Given the description of an element on the screen output the (x, y) to click on. 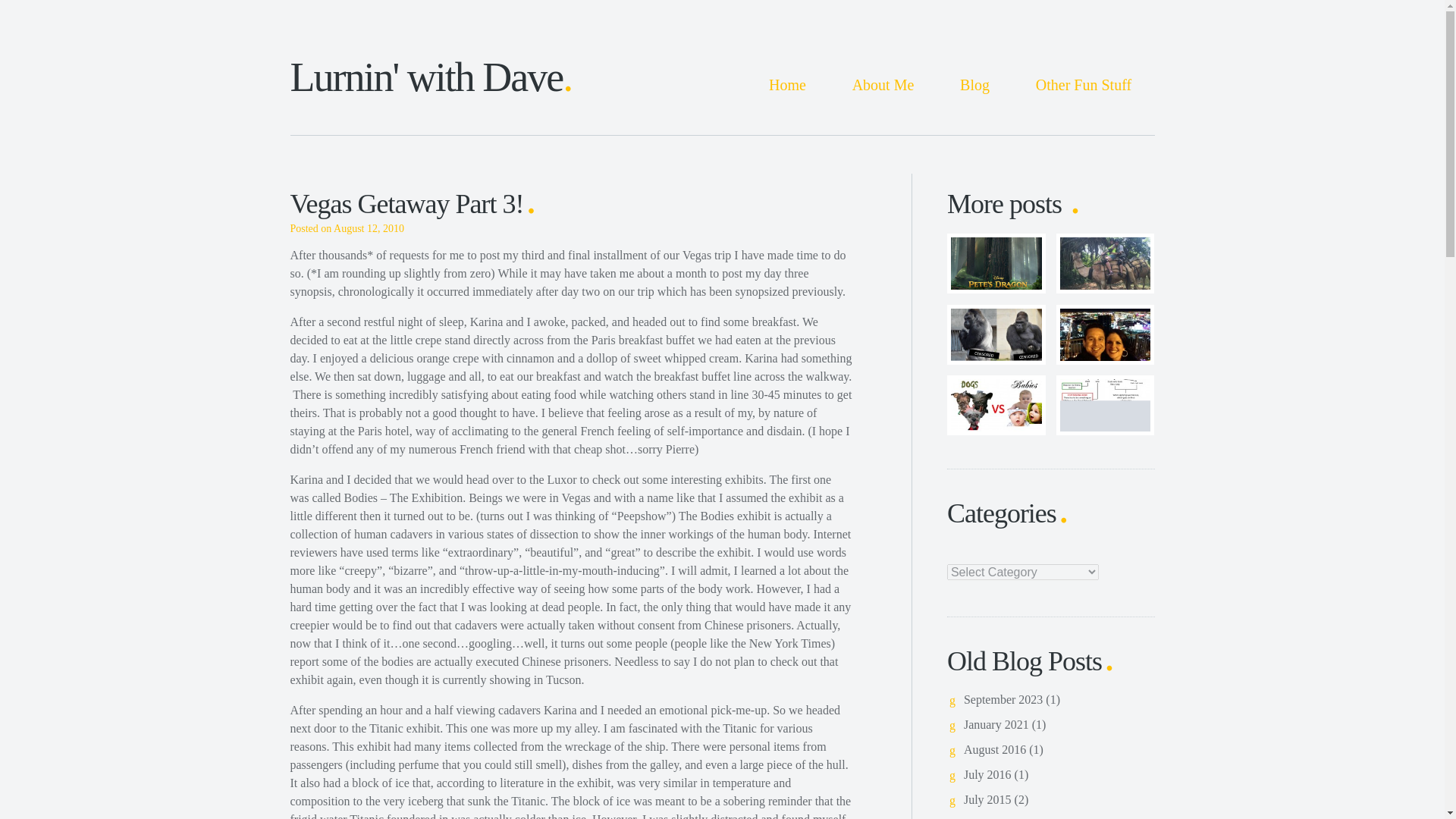
Blog (974, 84)
Home (787, 84)
June 2015 (988, 818)
September 2023 (1002, 698)
About Me (883, 84)
January 2021 (996, 724)
July 2015 (987, 799)
Lurnin' with Dave (431, 76)
July 2016 (987, 774)
August 2016 (994, 748)
